Given the description of an element on the screen output the (x, y) to click on. 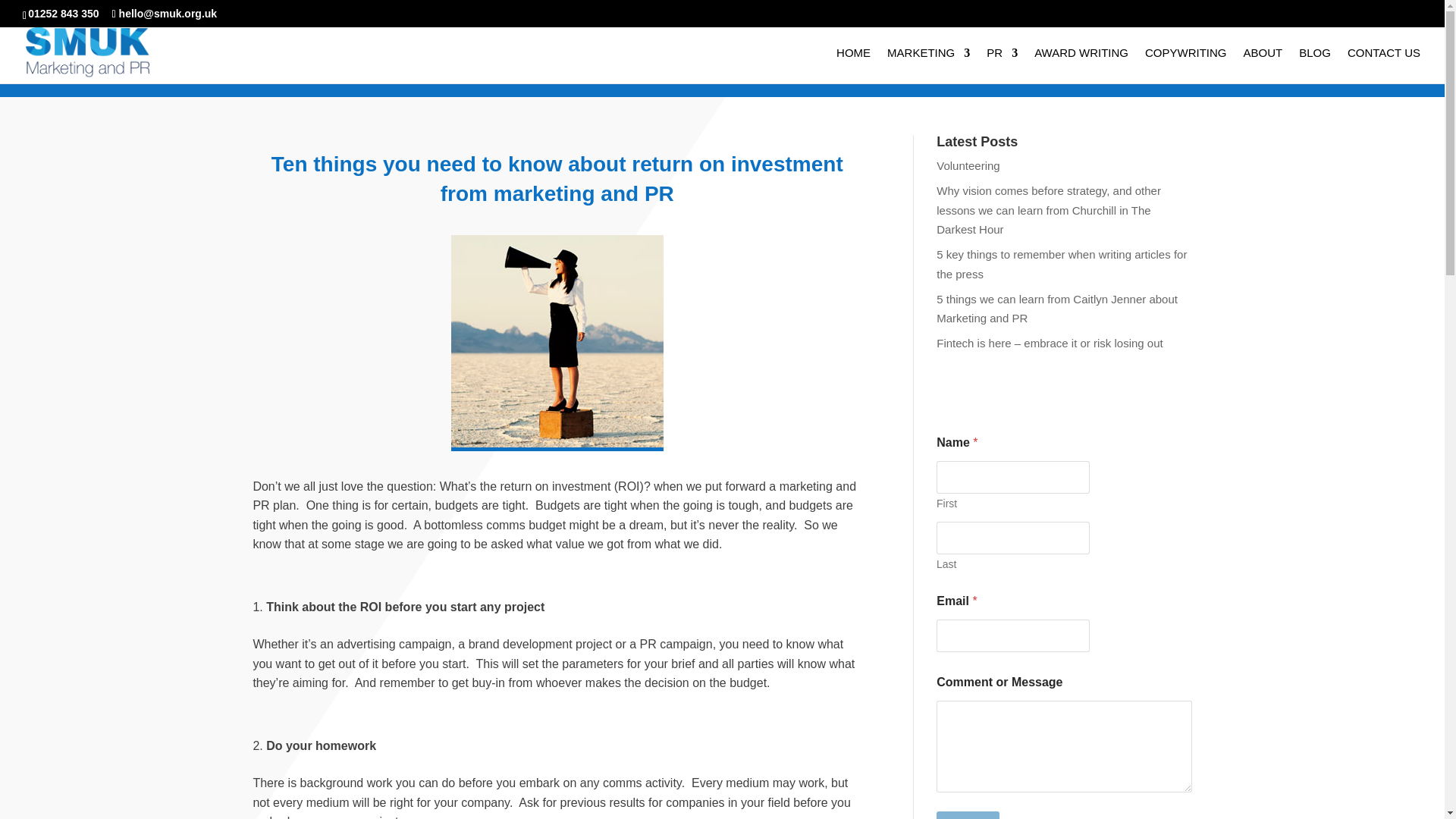
BLOG (1314, 65)
COPYWRITING (1185, 65)
Volunteering (967, 164)
5 key things to remember when writing articles for the press (1061, 264)
AWARD WRITING (1080, 65)
MARKETING (927, 65)
ABOUT (1262, 65)
Submit (967, 815)
